Given the description of an element on the screen output the (x, y) to click on. 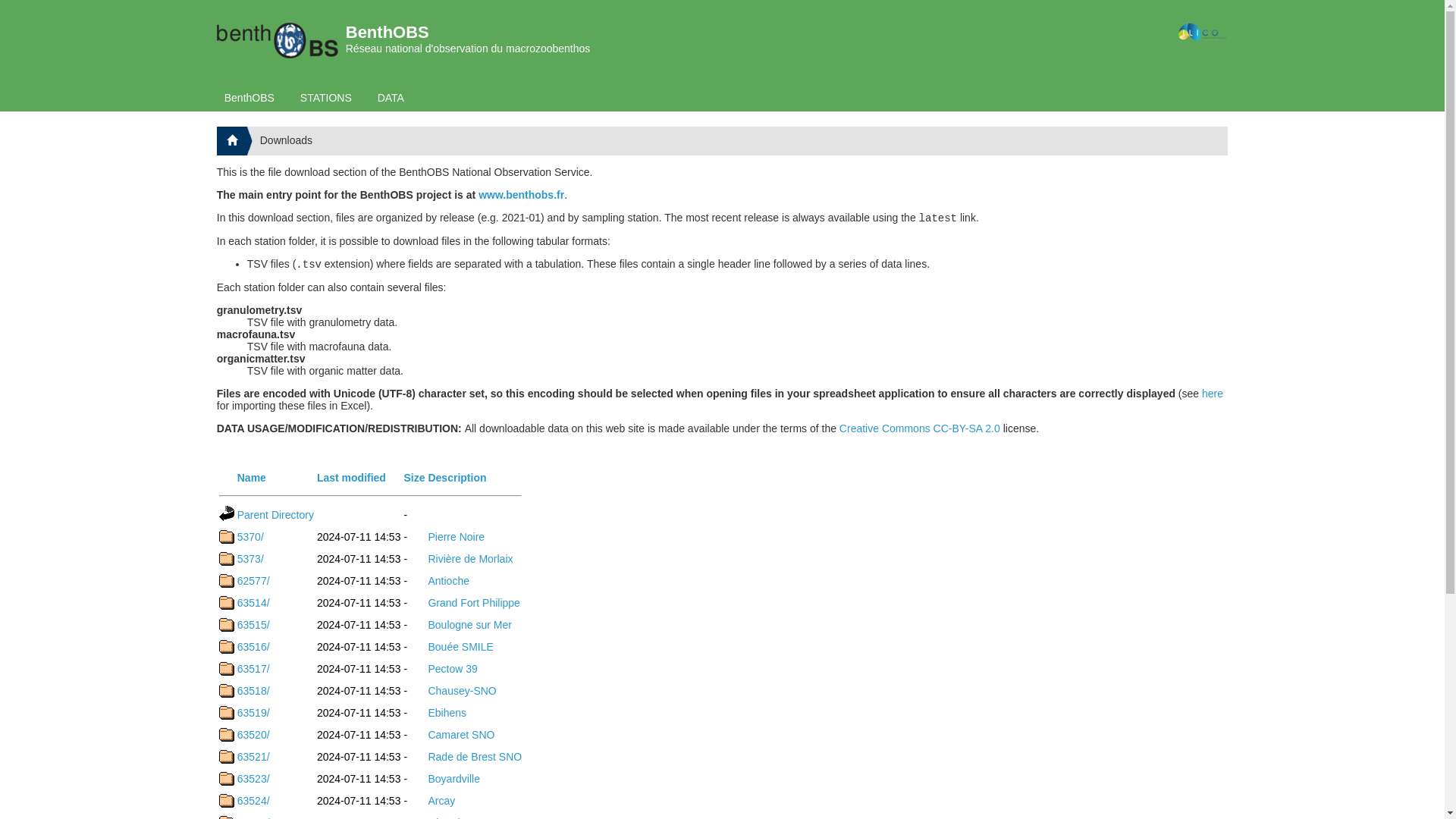
Antioche (448, 580)
Creative Commons CC-BY-SA 2.0 (920, 428)
Camaret SNO (461, 734)
DATA (390, 97)
Parent Directory (275, 513)
Name (251, 477)
Boyardville (453, 777)
Pectow 39 (452, 668)
Pierre Noire (456, 536)
STATIONS (325, 97)
here (1212, 393)
BenthOBS (249, 97)
Boulogne sur Mer (470, 624)
Size (414, 477)
Rade de Brest SNO (474, 756)
